Given the description of an element on the screen output the (x, y) to click on. 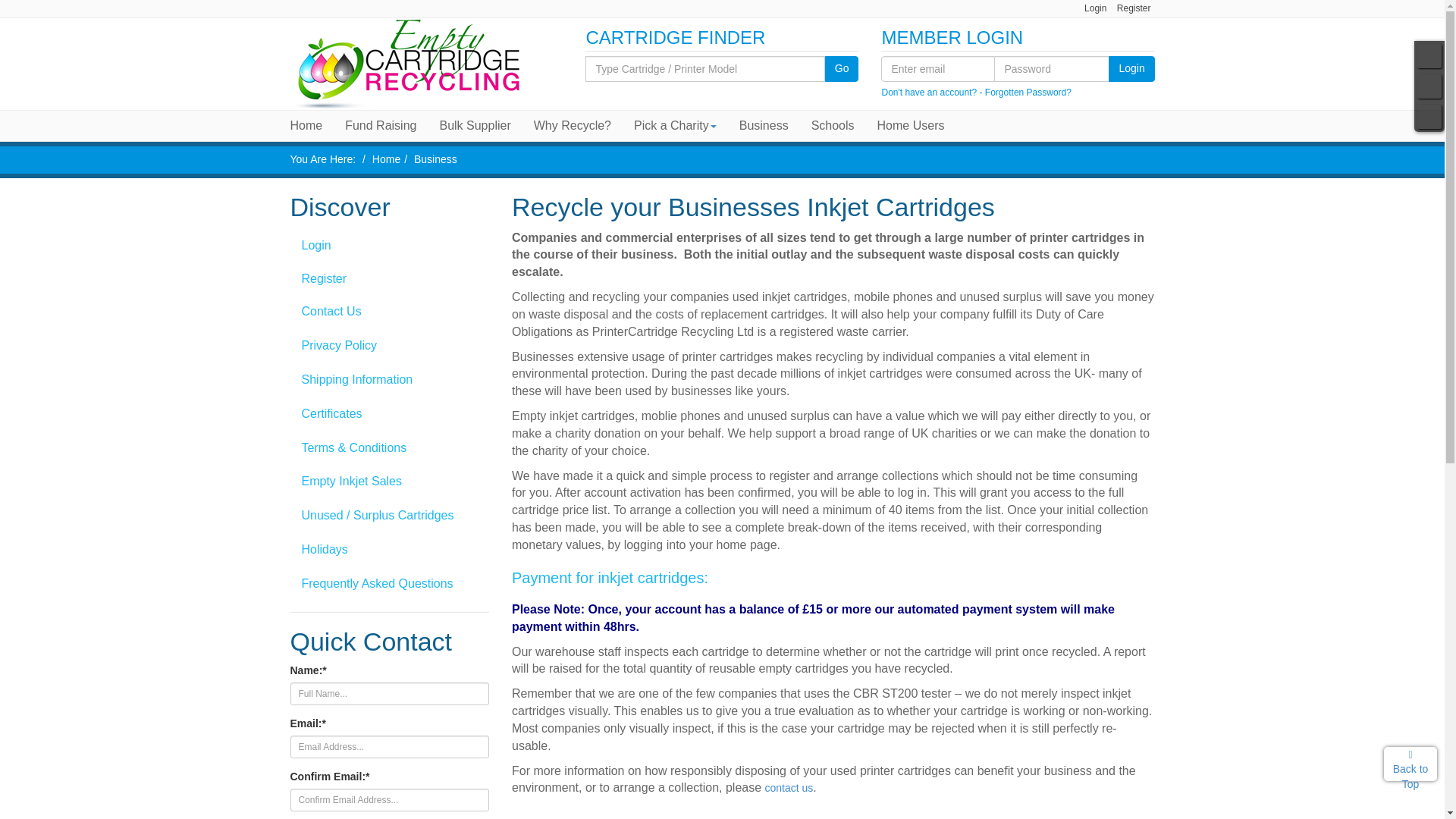
Login (1095, 8)
Why Recycle? (572, 125)
Pick a Charity (675, 125)
Schools (832, 125)
Login (1131, 68)
Contact Us (389, 311)
Home Users (911, 125)
contact us (789, 787)
Certificates (389, 414)
Shipping Information (389, 379)
